Given the description of an element on the screen output the (x, y) to click on. 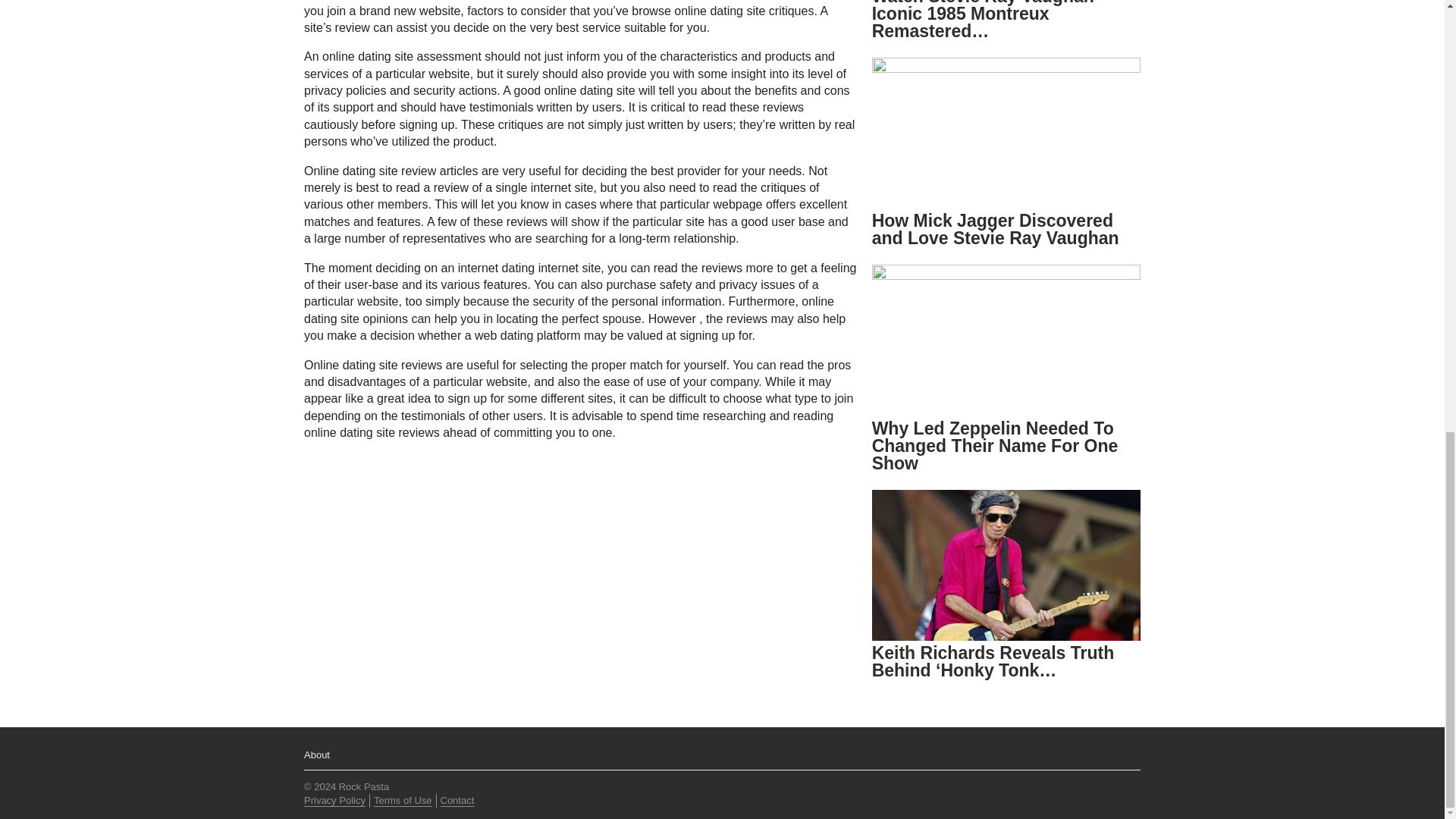
About (317, 754)
How Mick Jagger Discovered and Love Stevie Ray Vaughan (995, 229)
Why Led Zeppelin Needed To Changed Their Name For One Show (995, 445)
